Given the description of an element on the screen output the (x, y) to click on. 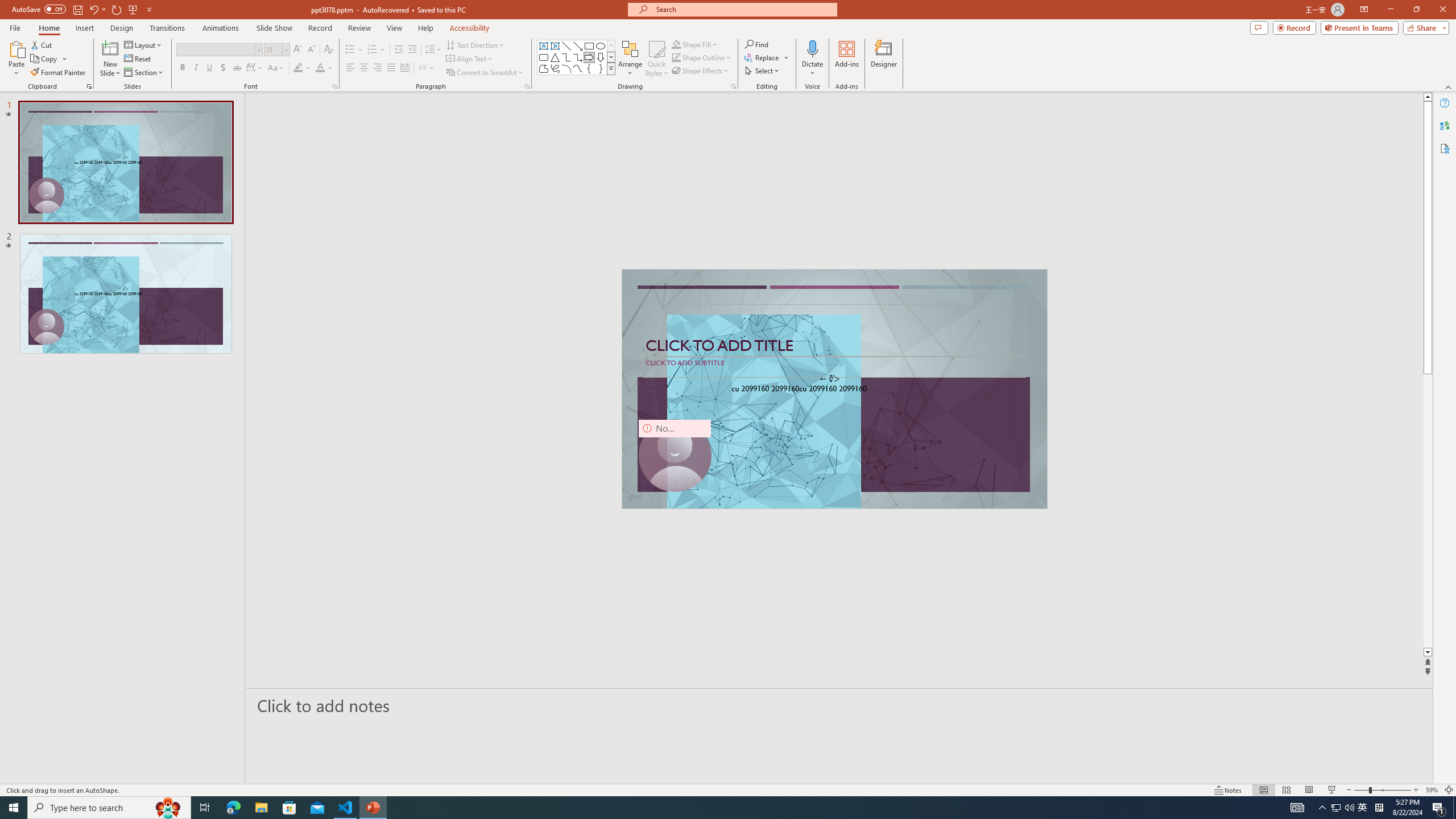
Zoom 59% (1431, 790)
